Given the description of an element on the screen output the (x, y) to click on. 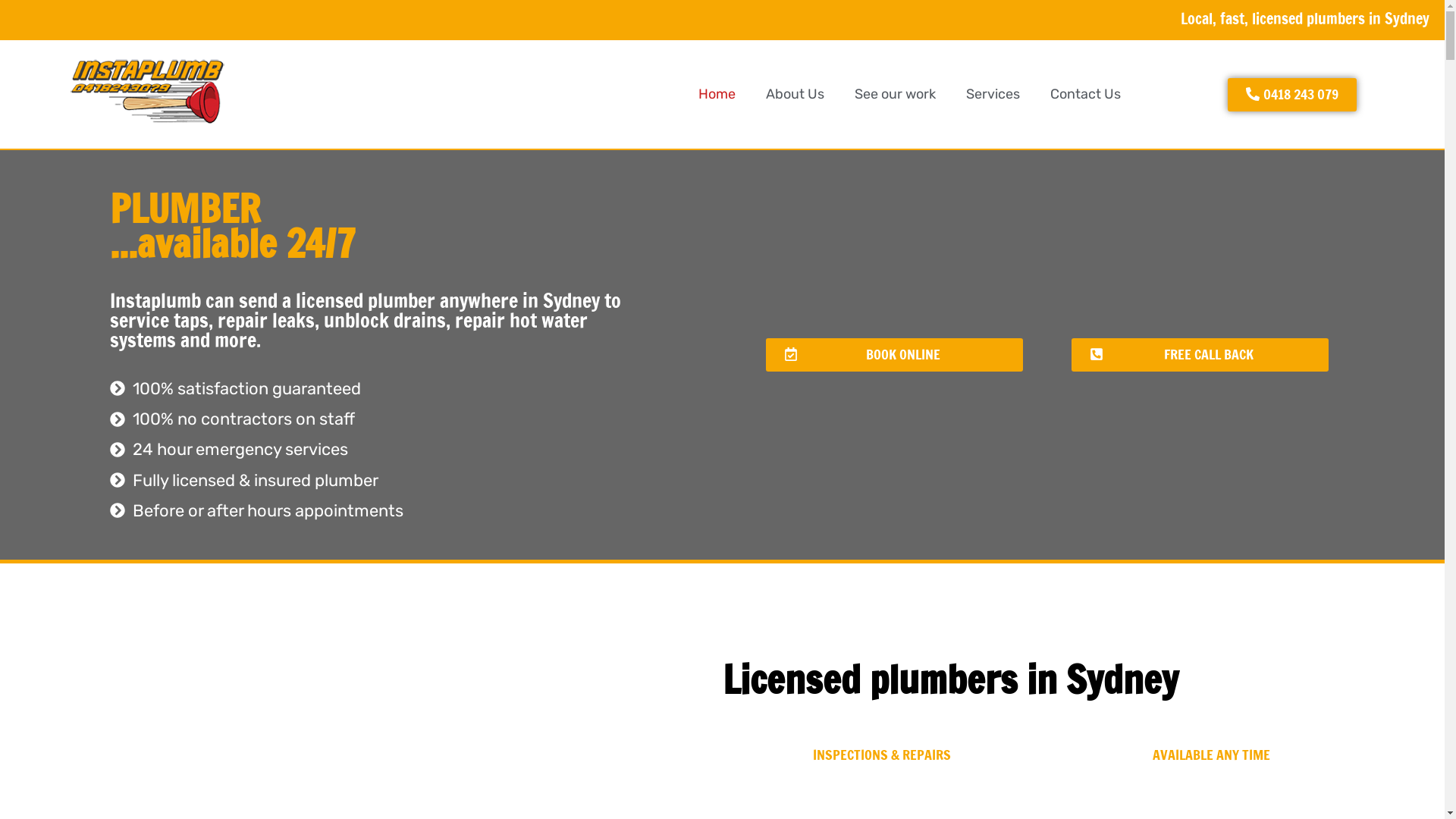
Services Element type: text (992, 94)
0418 243 079 Element type: text (1291, 94)
See our work Element type: text (894, 94)
Home Element type: text (716, 94)
About Us Element type: text (794, 94)
Contact Us Element type: text (1085, 94)
FREE CALL BACK Element type: text (1199, 354)
BOOK ONLINE Element type: text (893, 354)
